Given the description of an element on the screen output the (x, y) to click on. 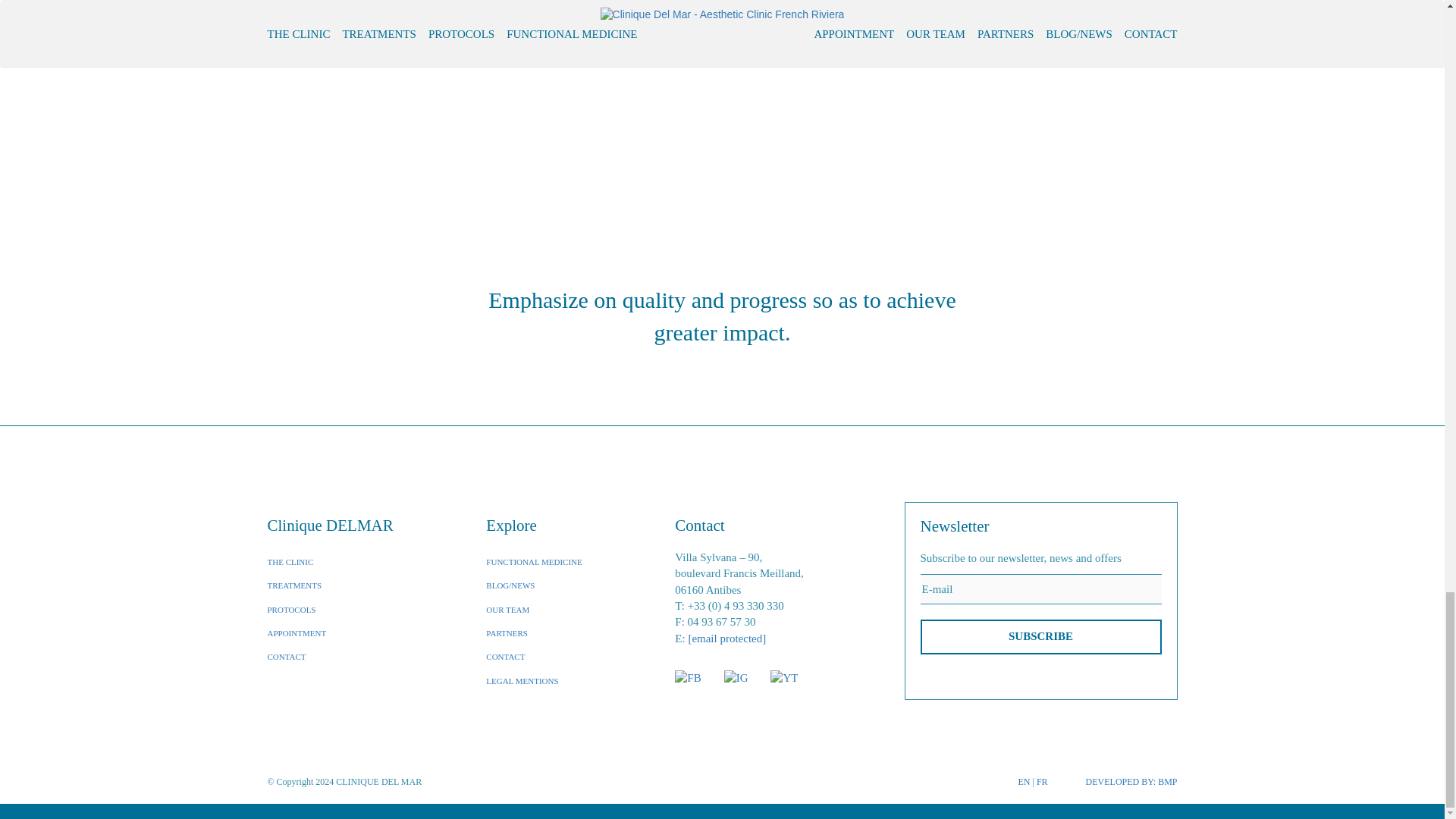
PARTNERS (506, 633)
APPOINTMENT (296, 633)
FUNCTIONAL MEDICINE (533, 561)
CONTACT (505, 655)
CONTACT (285, 655)
OUR TEAM (507, 609)
LEGAL MENTIONS (521, 680)
TREATMENTS (293, 584)
THE CLINIC (289, 561)
PROTOCOLS (290, 609)
